Given the description of an element on the screen output the (x, y) to click on. 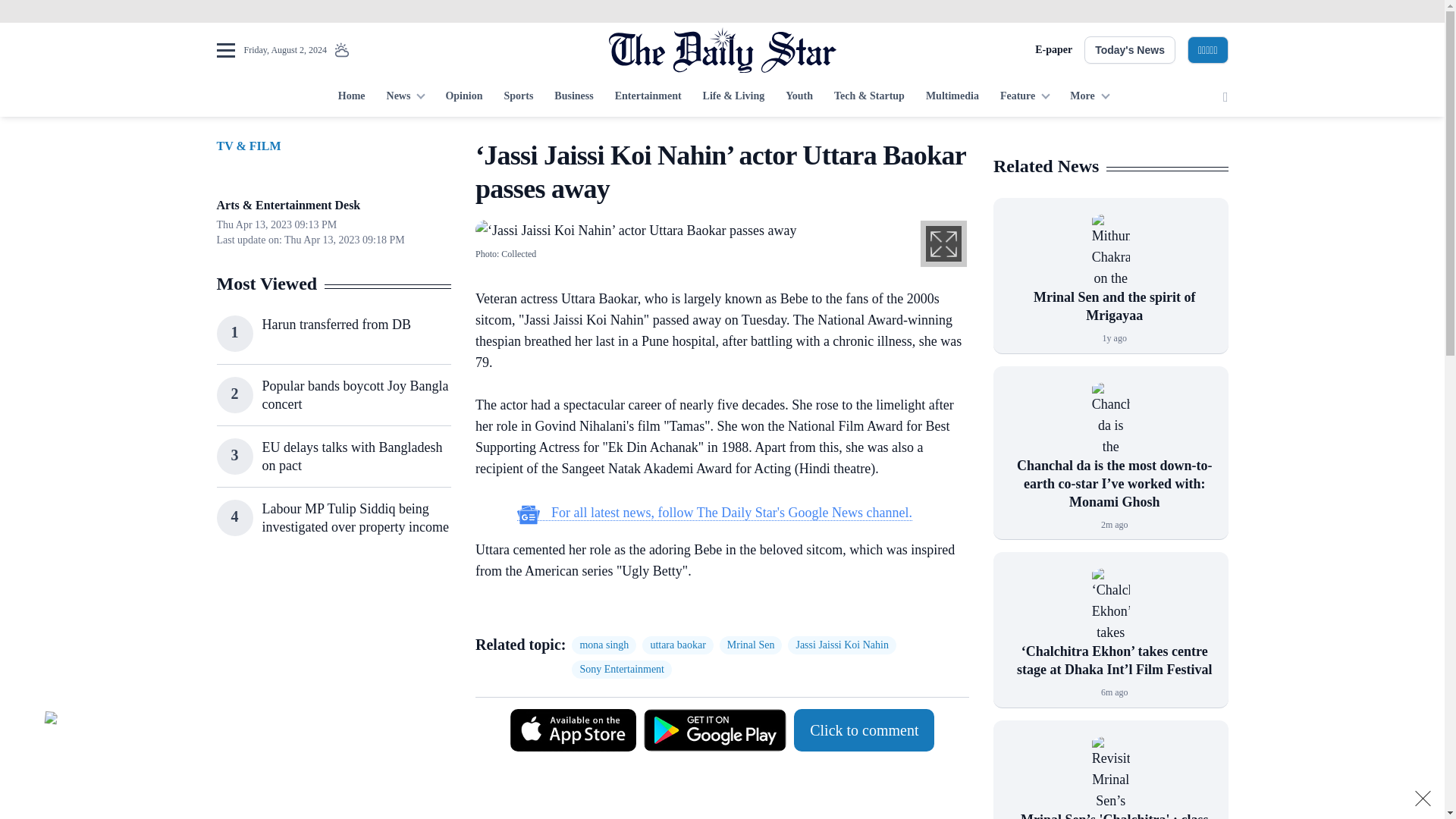
Sports (518, 96)
Home (351, 96)
Business (573, 96)
Opinion (463, 96)
Feature (1024, 96)
Entertainment (647, 96)
Multimedia (952, 96)
E-paper (1053, 49)
News (405, 96)
Youth (799, 96)
Today's News (1129, 49)
